Given the description of an element on the screen output the (x, y) to click on. 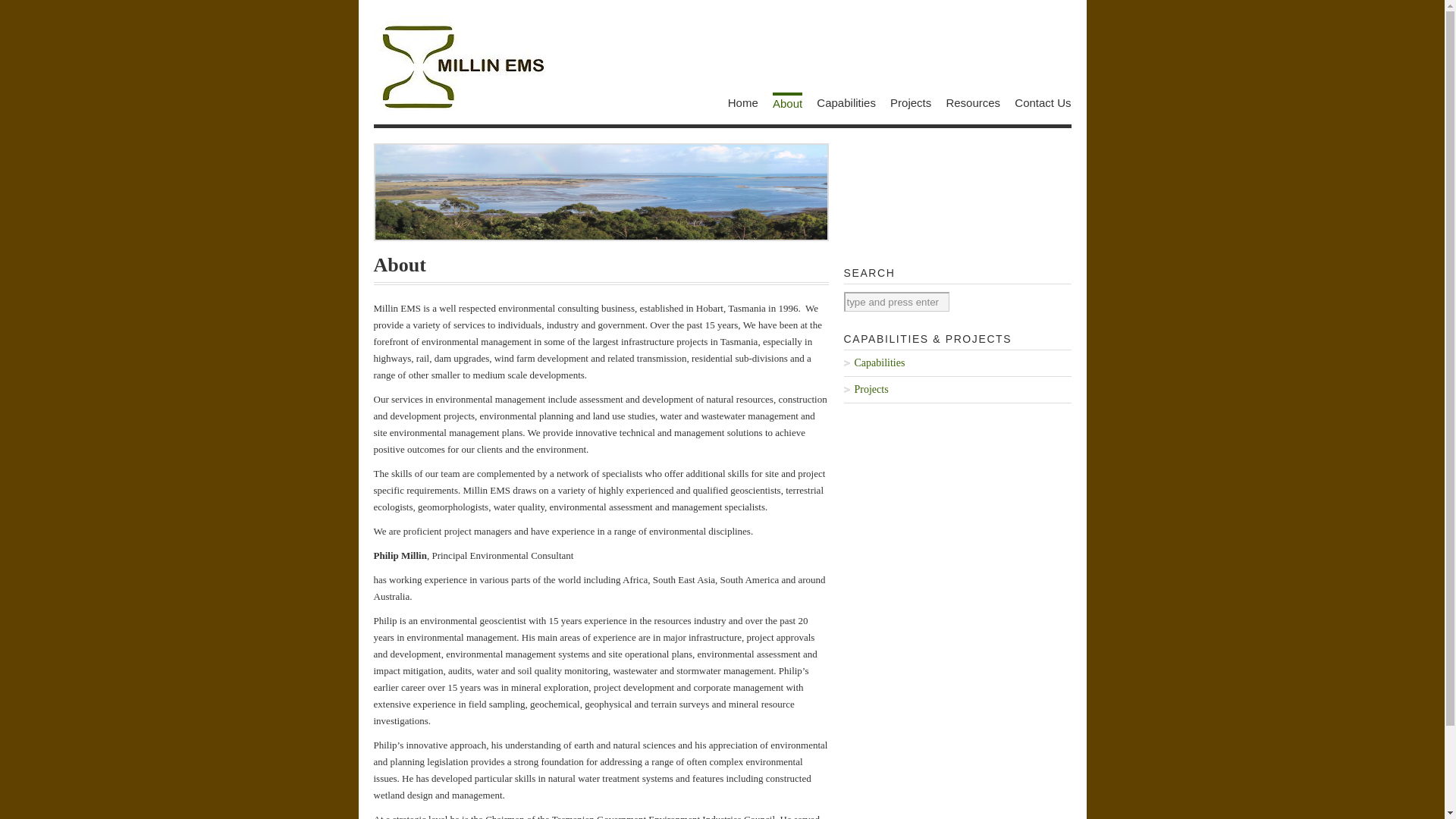
Resources Element type: text (972, 102)
Projects Element type: text (956, 389)
About Element type: text (787, 100)
Home Element type: text (743, 102)
Contact Us Element type: text (1042, 102)
Capabilities Element type: text (956, 362)
Capabilities Element type: text (845, 102)
Projects Element type: text (910, 102)
